Given the description of an element on the screen output the (x, y) to click on. 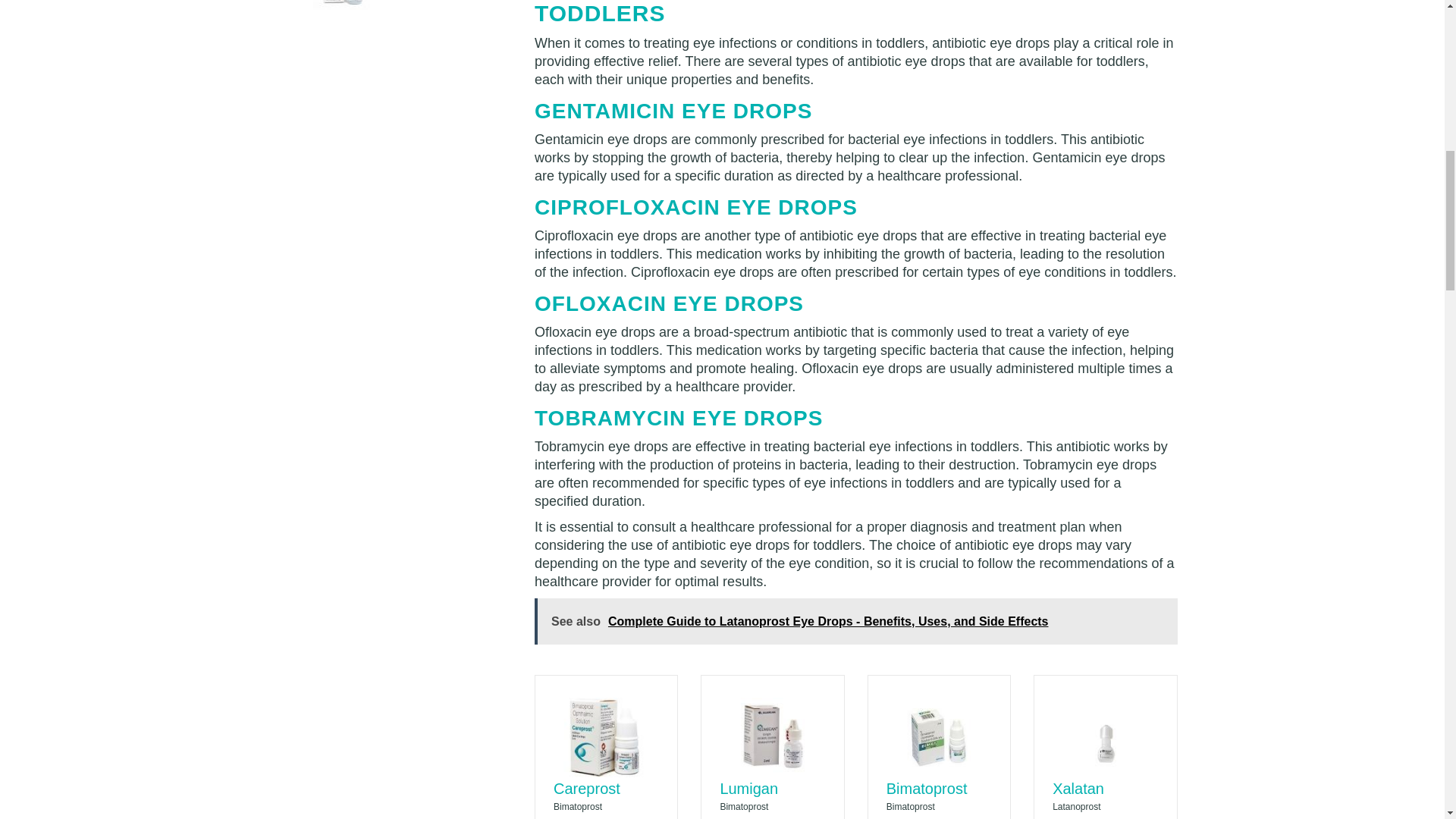
Lumigan (748, 788)
Bimatoprost (927, 788)
Xalatan (1077, 788)
Careprost (586, 788)
